Given the description of an element on the screen output the (x, y) to click on. 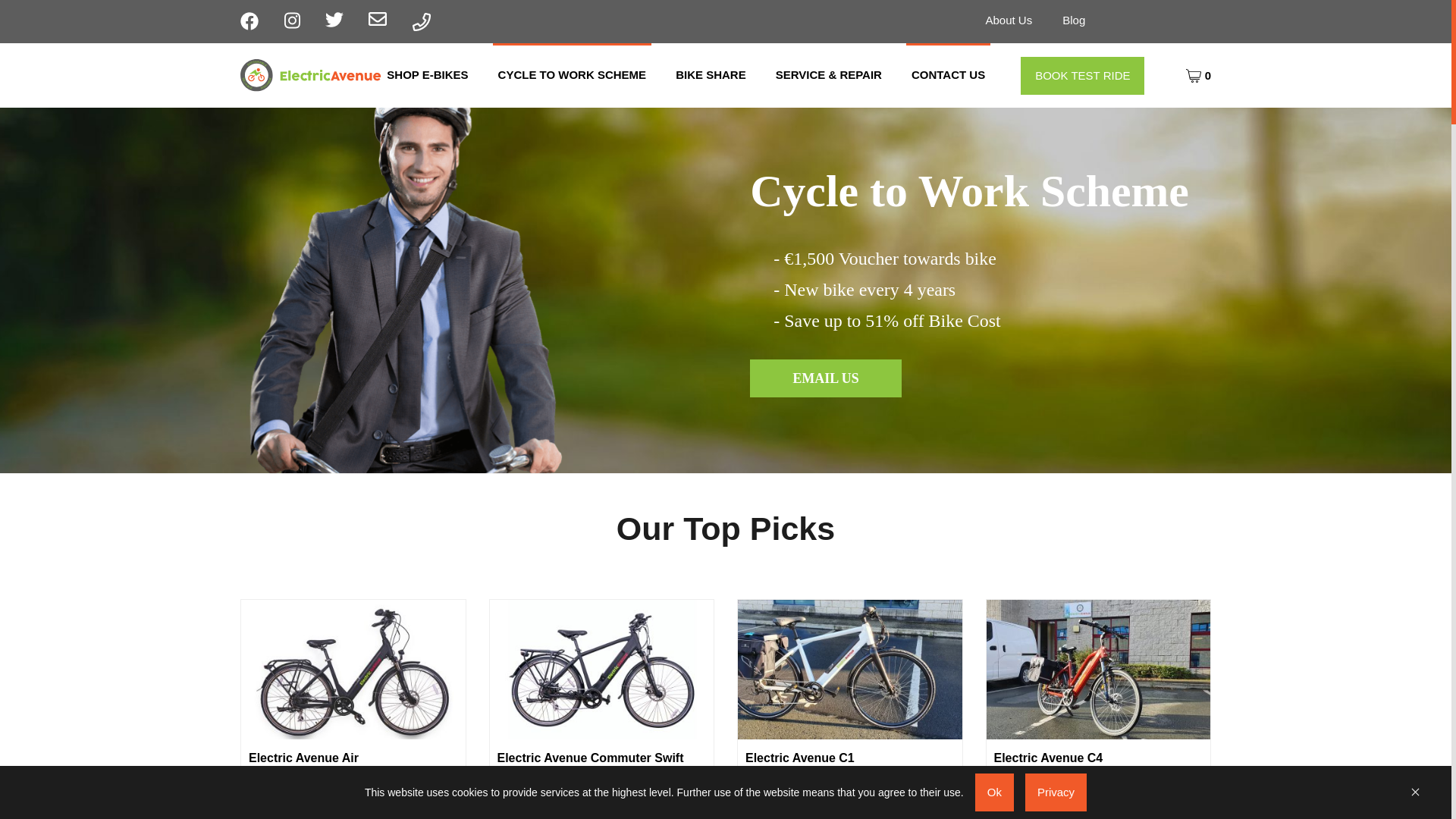
CYCLE TO WORK SCHEME (572, 75)
BOOK TEST RIDE (1082, 75)
CONTACT US (947, 75)
0 (1198, 74)
EMAIL US (825, 378)
BIKE SHARE (710, 75)
Blog (1073, 19)
SHOP E-BIKES (427, 75)
About Us (1008, 19)
